Given the description of an element on the screen output the (x, y) to click on. 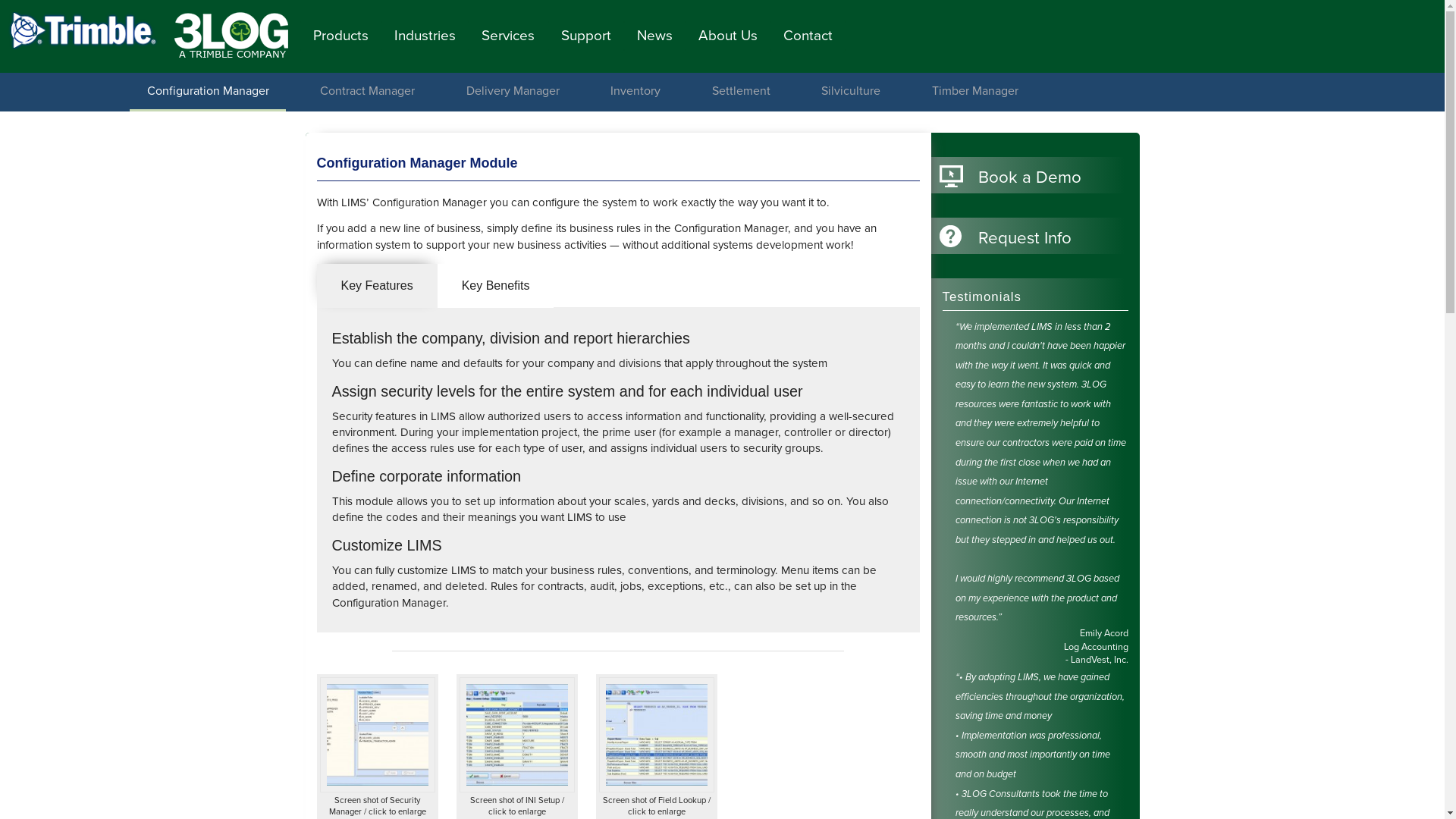
Services Element type: text (507, 35)
Settlement Element type: text (740, 90)
Contract Manager Element type: text (367, 90)
Products Element type: text (340, 35)
  Request Info Element type: text (1029, 237)
About Us Element type: text (727, 35)
Support Element type: text (586, 35)
Industries Element type: text (424, 35)
Contact Element type: text (807, 35)
Delivery Manager Element type: text (512, 90)
Silviculture Element type: text (850, 90)
TRIMBLE Element type: text (83, 31)
Key Benefits Element type: text (495, 285)
  Book a Demo Element type: text (1029, 176)
News Element type: text (654, 35)
3LOG Element type: text (227, 31)
Inventory Element type: text (635, 90)
Key Features Element type: text (376, 285)
Configuration Manager Element type: text (207, 90)
Timber Manager Element type: text (974, 90)
